Given the description of an element on the screen output the (x, y) to click on. 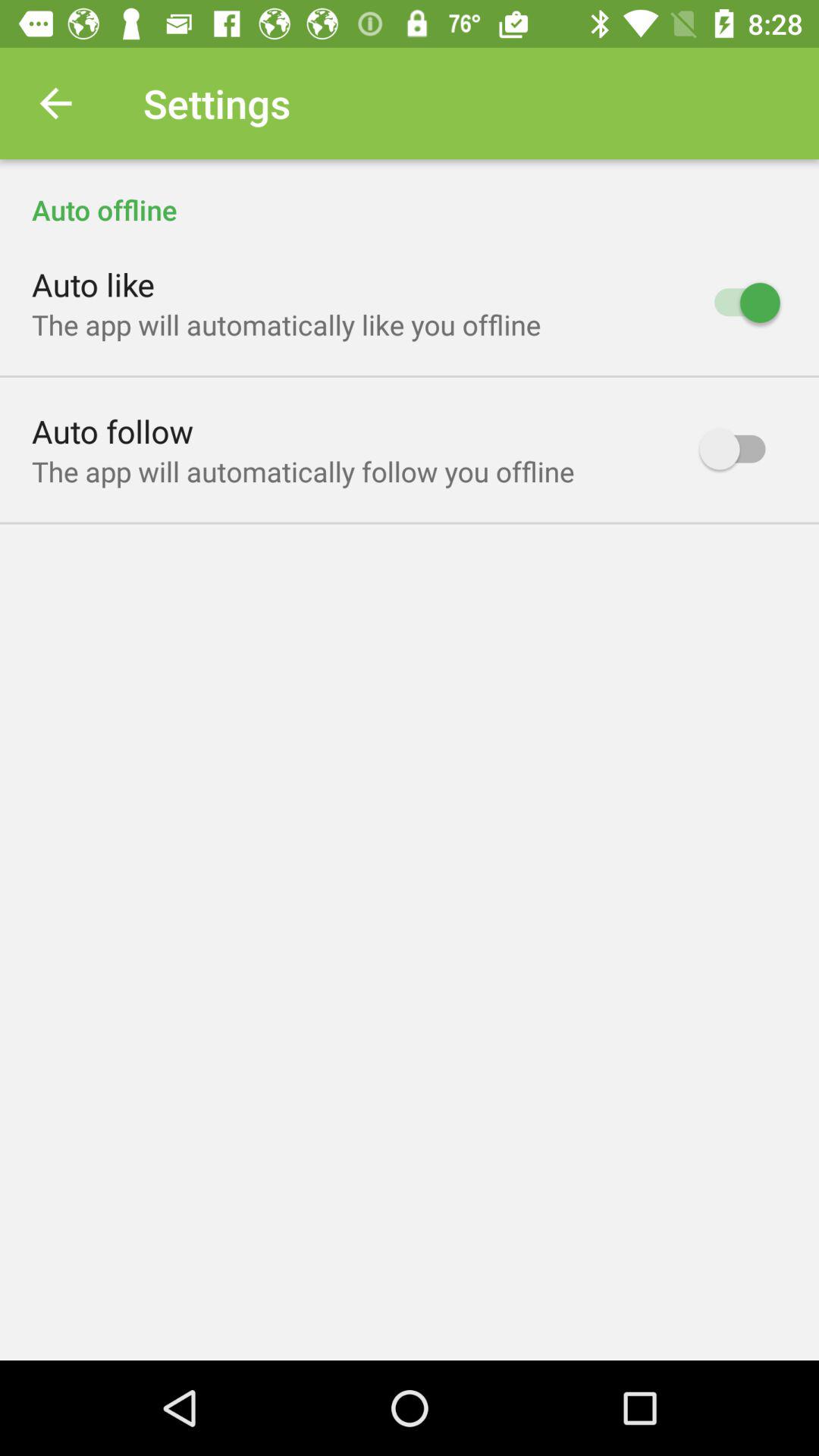
click icon above the app will icon (112, 430)
